Given the description of an element on the screen output the (x, y) to click on. 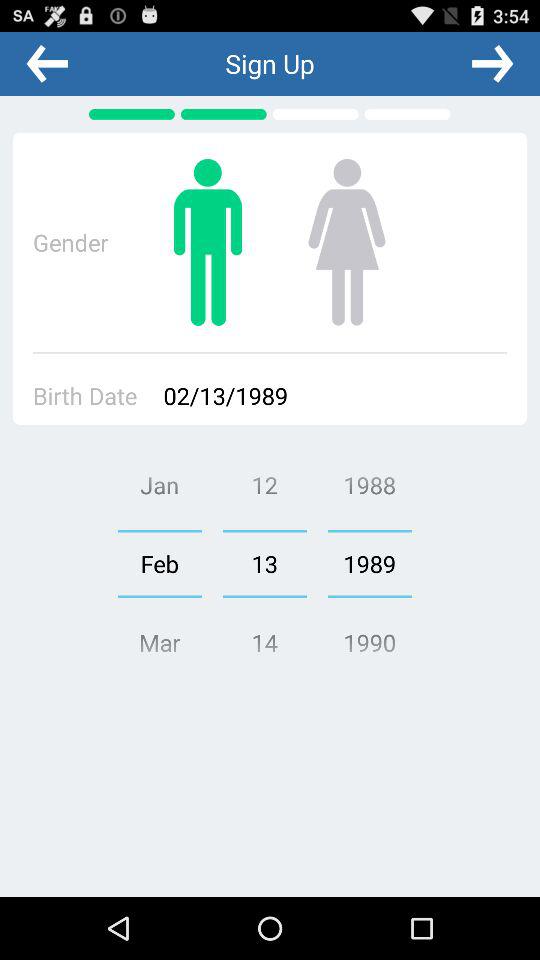
click on the female icon (346, 242)
select the gender male (207, 242)
click on the page indicator icon (131, 114)
select 13th date which is after feb on the page (265, 563)
